Given the description of an element on the screen output the (x, y) to click on. 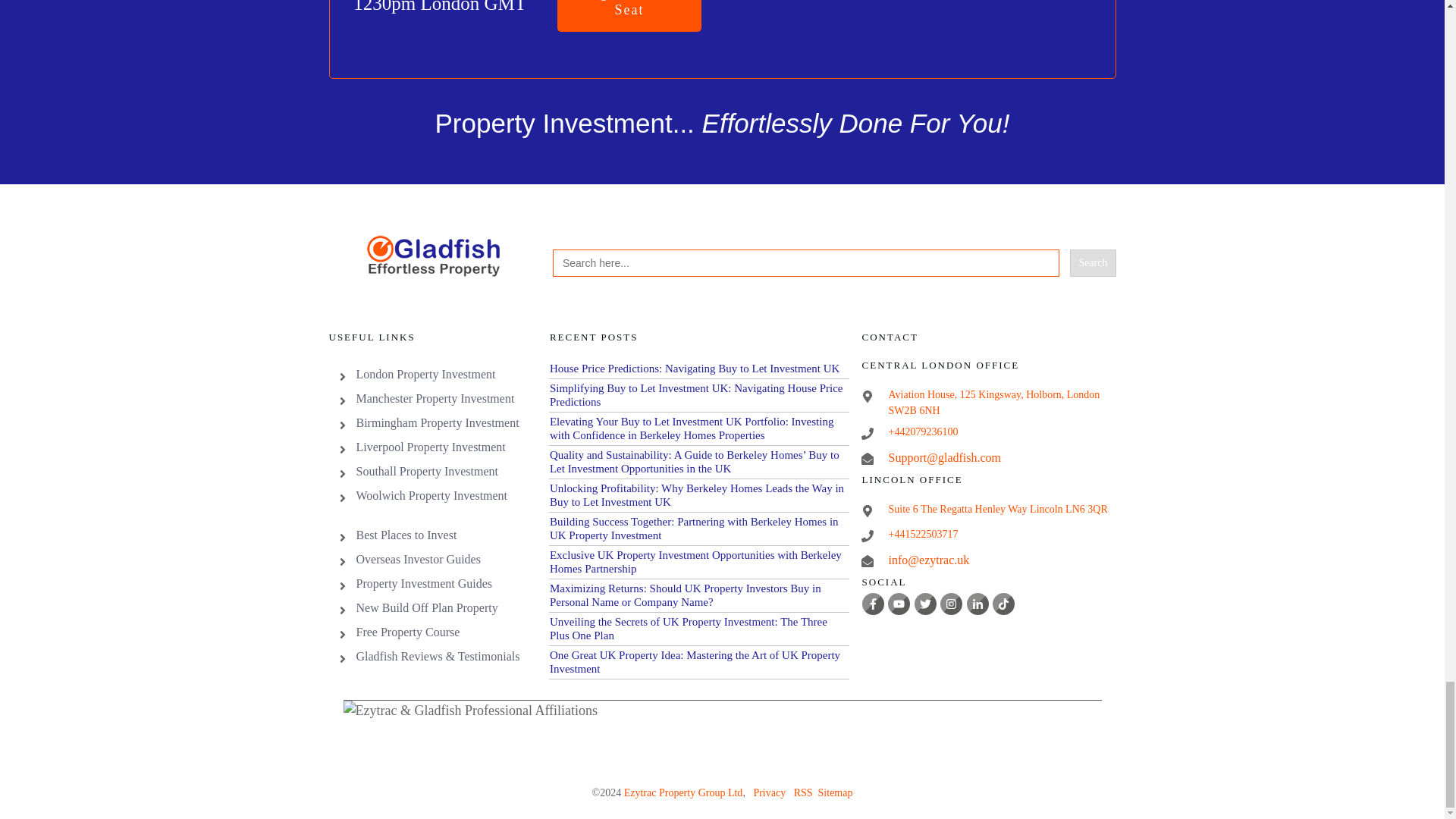
Search (1092, 262)
House Price Predictions: Navigating Buy to Let Investment UK (695, 368)
Register Your Seat (629, 15)
Search (1092, 262)
Search (1092, 262)
